Given the description of an element on the screen output the (x, y) to click on. 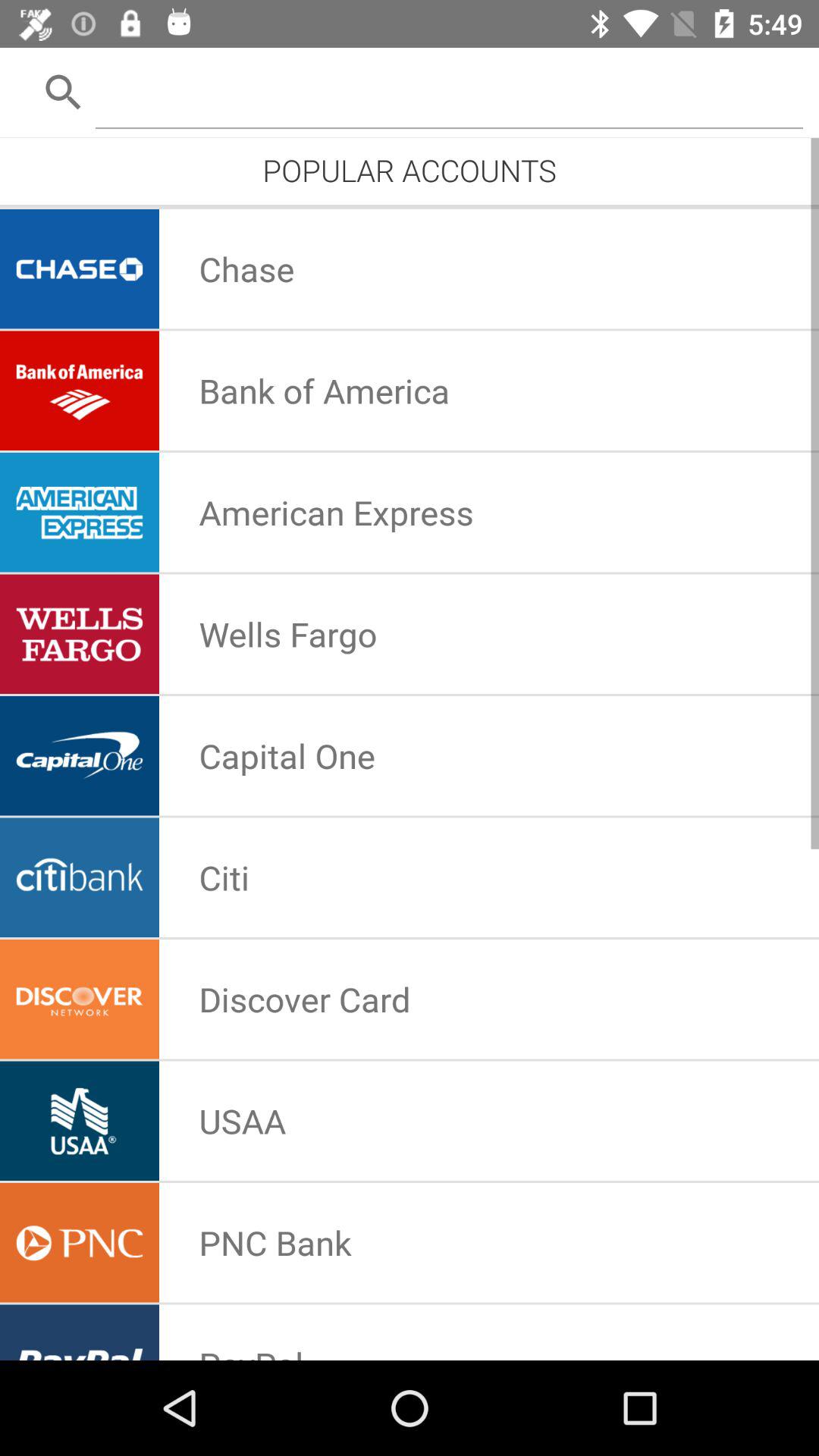
turn on app below citi item (304, 999)
